Given the description of an element on the screen output the (x, y) to click on. 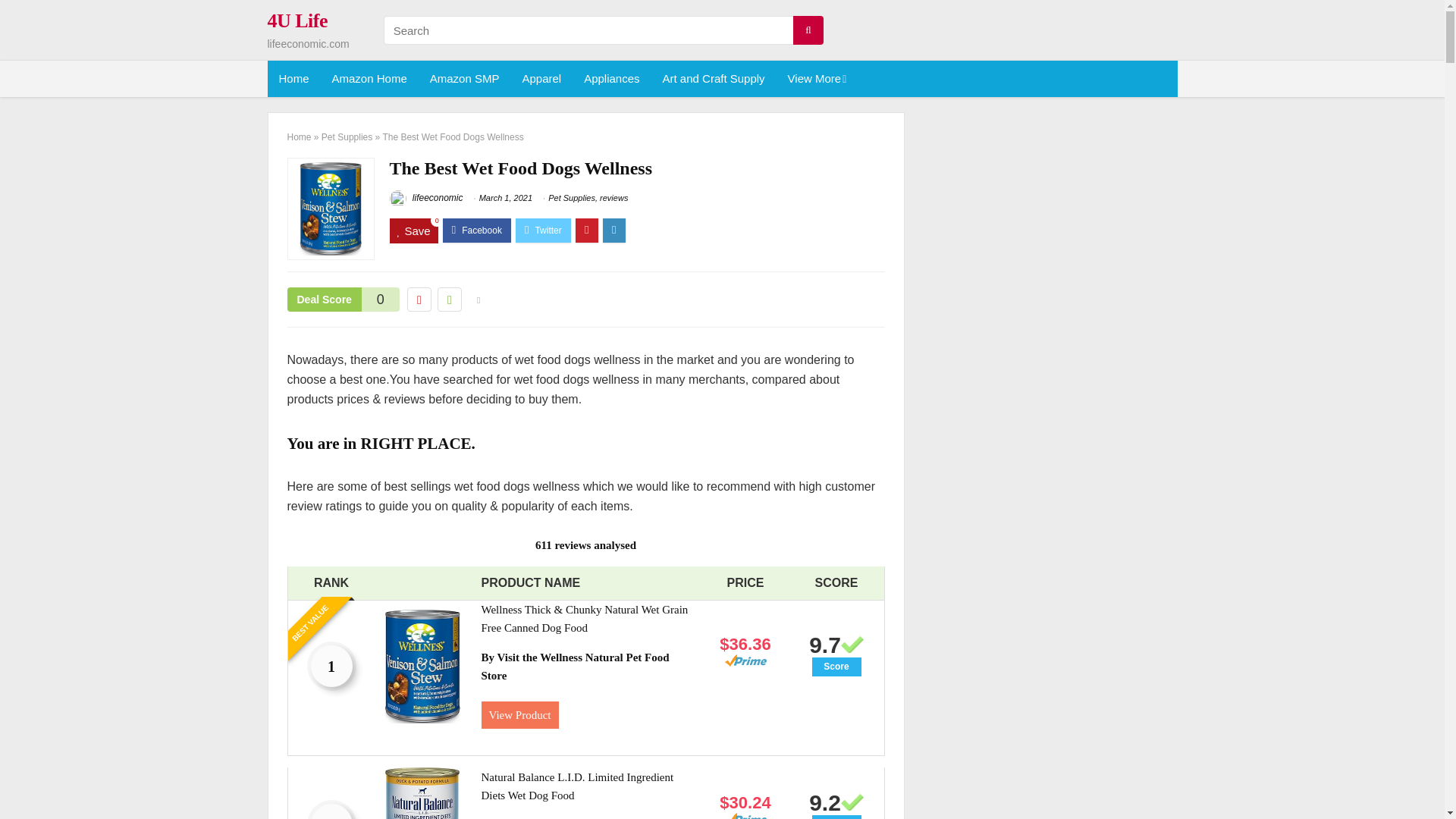
Art and Craft Supply (713, 78)
Vote down (418, 299)
Amazon SMP (465, 78)
Appliances (611, 78)
View More (816, 78)
Home (293, 78)
Amazon Home (369, 78)
View all posts in reviews (613, 197)
Apparel (541, 78)
View all posts in Pet Supplies (571, 197)
